Given the description of an element on the screen output the (x, y) to click on. 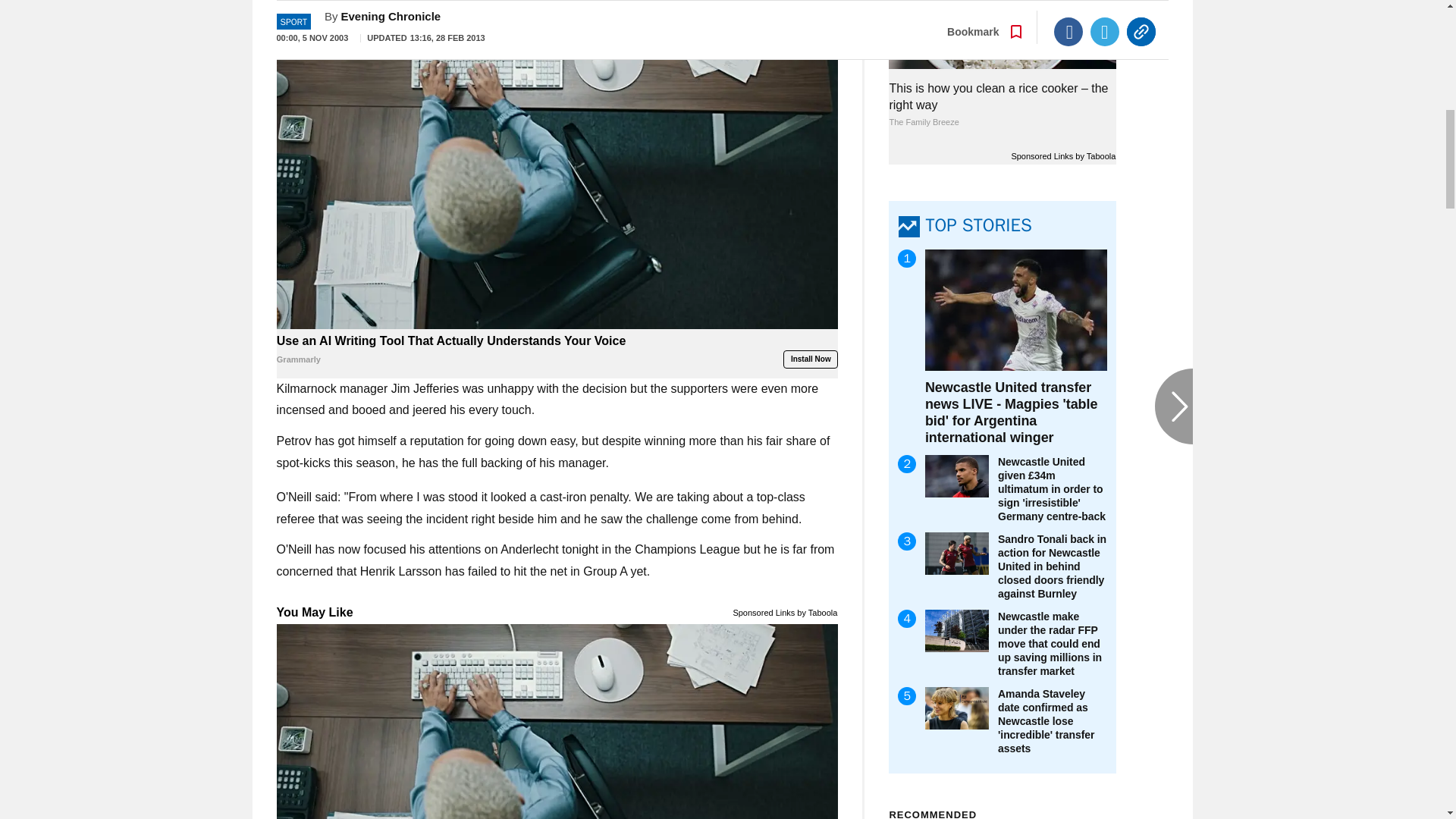
Use an AI Writing Tool That Actually Understands Your Voice (557, 350)
